Given the description of an element on the screen output the (x, y) to click on. 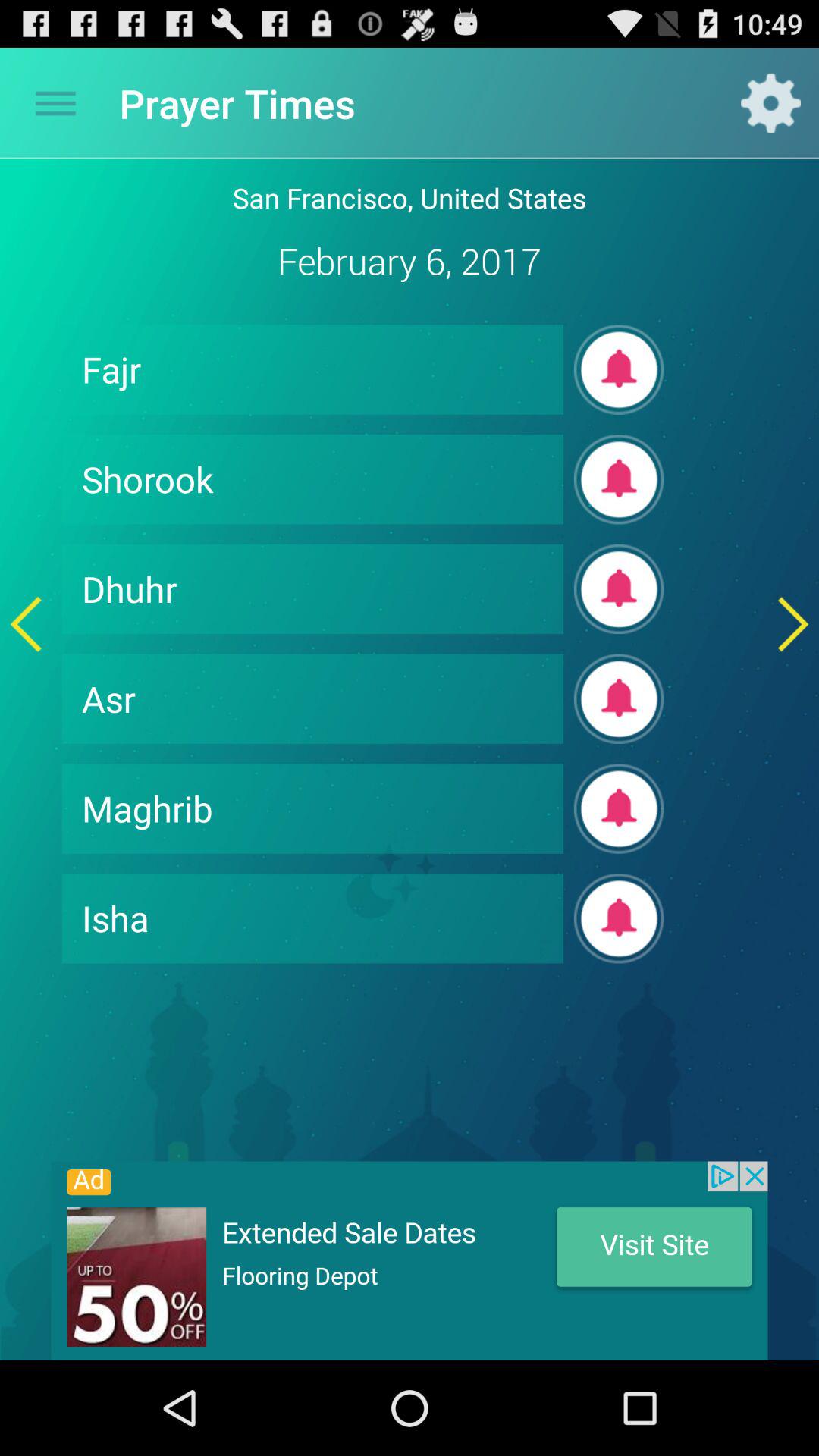
go back option (25, 624)
